Given the description of an element on the screen output the (x, y) to click on. 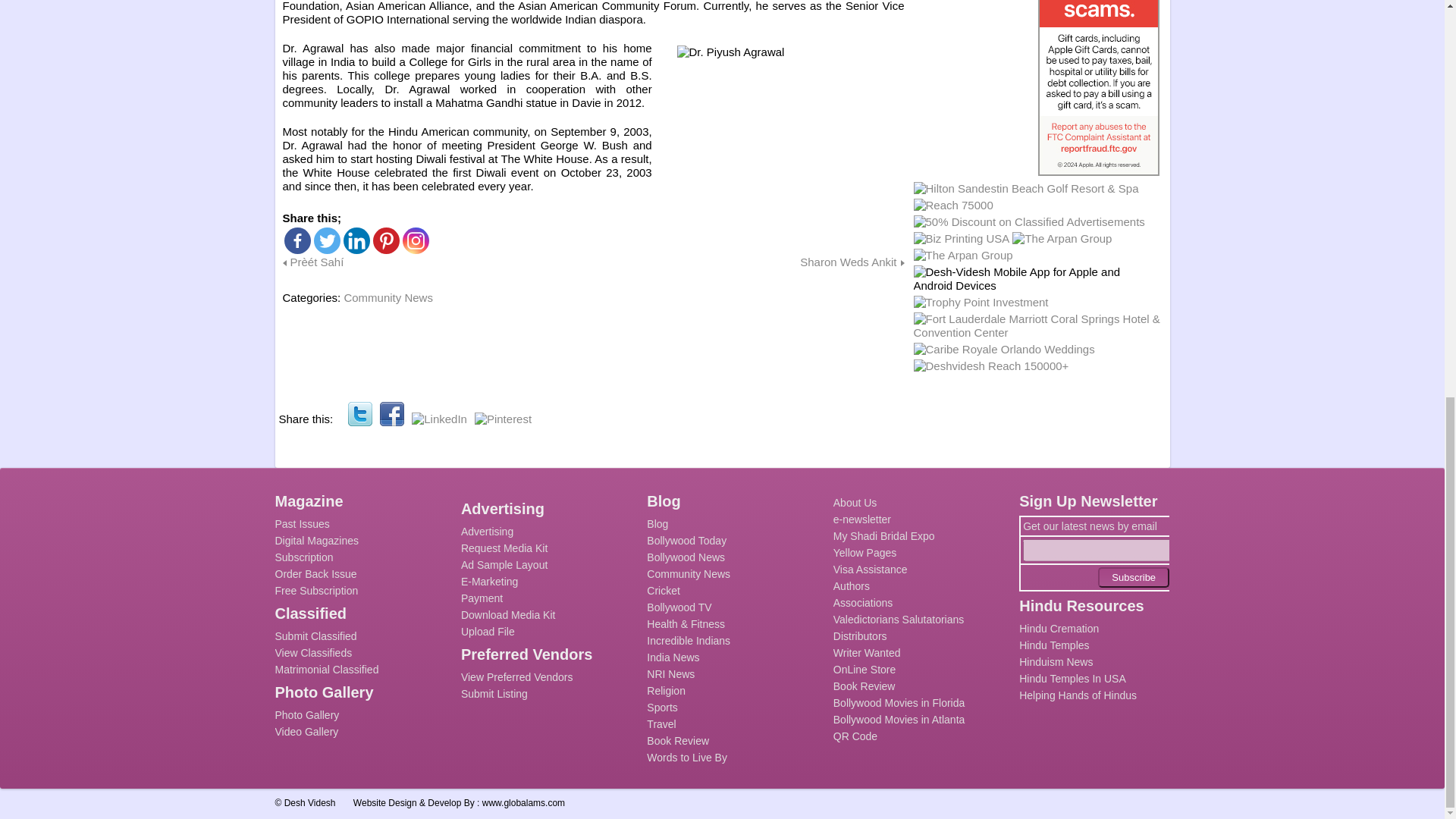
Community News (387, 297)
Sharon Weds Ankit (851, 261)
Facebook (296, 240)
Linkedin (355, 240)
LinkedIn (439, 418)
Pinterest (502, 418)
Pinterest (385, 240)
Instagram (414, 240)
Twitter (359, 413)
Dr. Piyush Agrawal (790, 120)
